Given the description of an element on the screen output the (x, y) to click on. 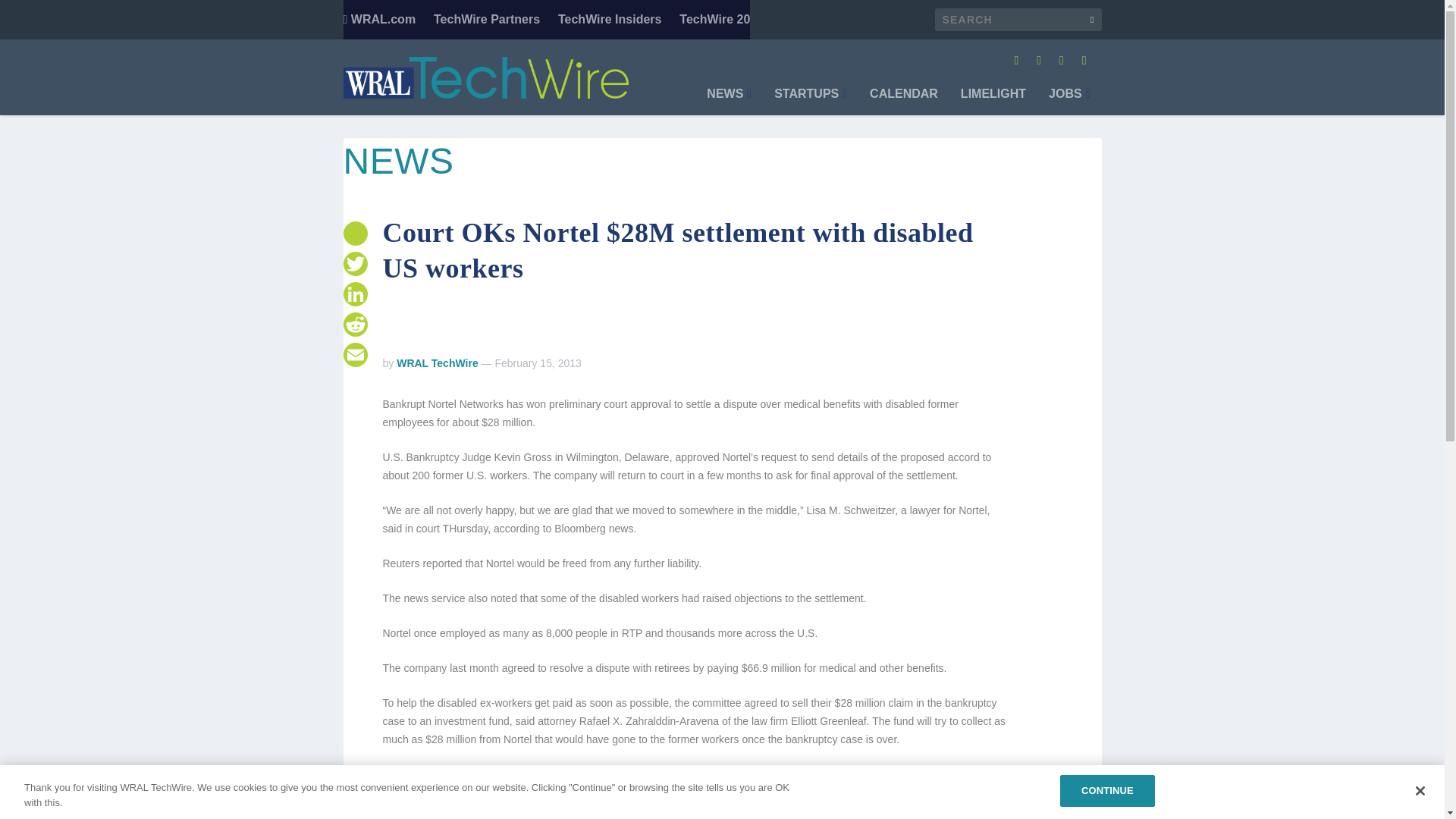
Email (354, 354)
Facebook (354, 233)
CALENDAR (903, 101)
Search for: (1017, 19)
LinkedIn (354, 294)
TechWire 20 (714, 19)
Twitter (354, 263)
Reddit (354, 324)
STARTUPS (810, 101)
TechWire Partners (486, 19)
LIMELIGHT (993, 101)
NEWS (728, 101)
TechWire Insiders (609, 19)
JOBS (1068, 101)
WRAL.com (378, 19)
